Given the description of an element on the screen output the (x, y) to click on. 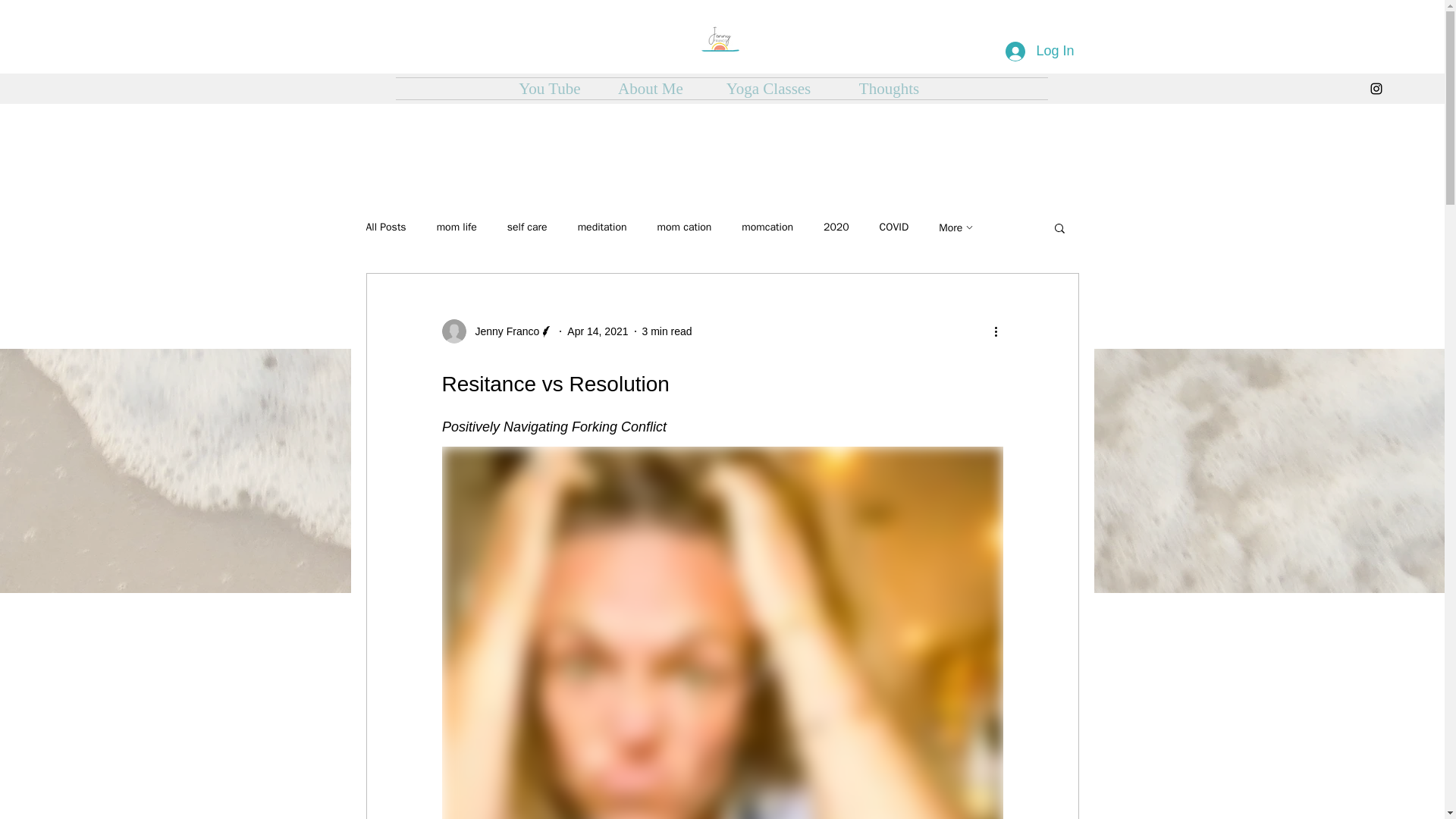
About Me (649, 88)
Thoughts (888, 88)
Log In (1039, 51)
Yoga Classes (767, 88)
self care (526, 227)
3 min read (666, 330)
Jenny Franco (497, 331)
You Tube (549, 88)
mom cation (683, 227)
2020 (836, 227)
